Given the description of an element on the screen output the (x, y) to click on. 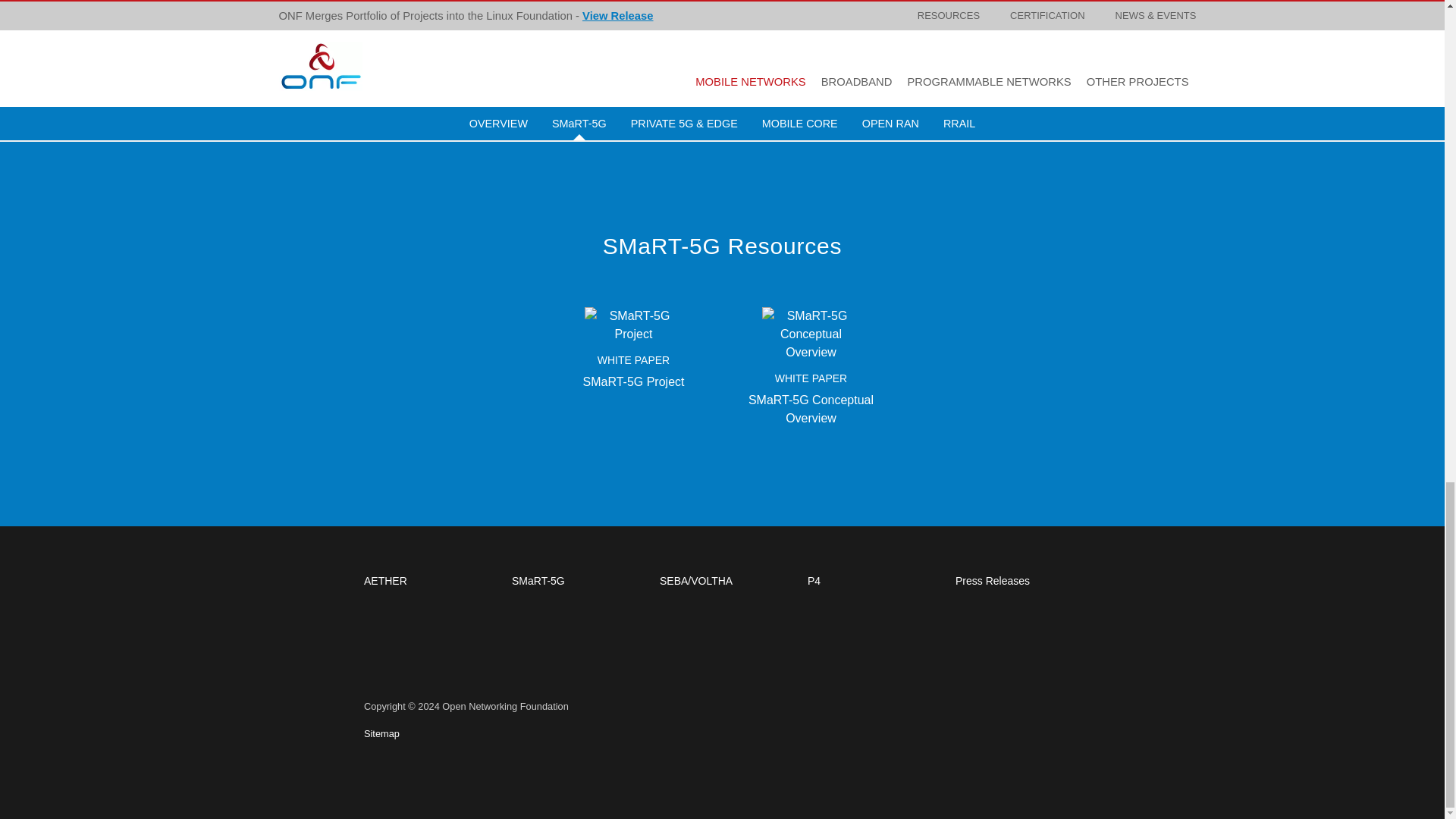
SMaRT-5G Project (632, 323)
SMaRT-5G Project (633, 381)
SMaRT-5G Conceptual Overview (810, 409)
RSS (1099, 646)
SMaRT-5G Conceptual Overview (810, 332)
Sitemap (381, 733)
